Given the description of an element on the screen output the (x, y) to click on. 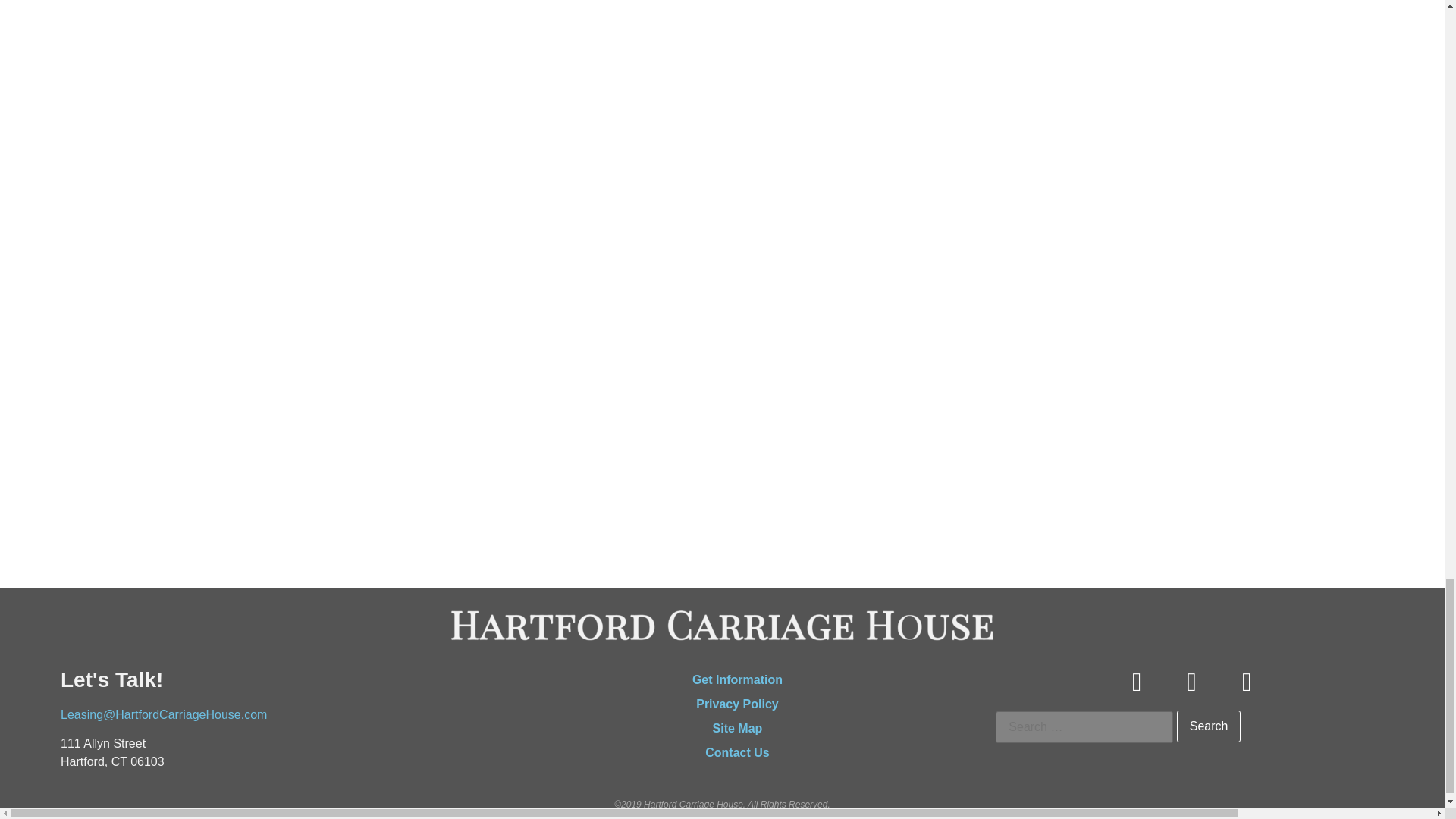
Search (1208, 726)
Search (1208, 726)
